Given the description of an element on the screen output the (x, y) to click on. 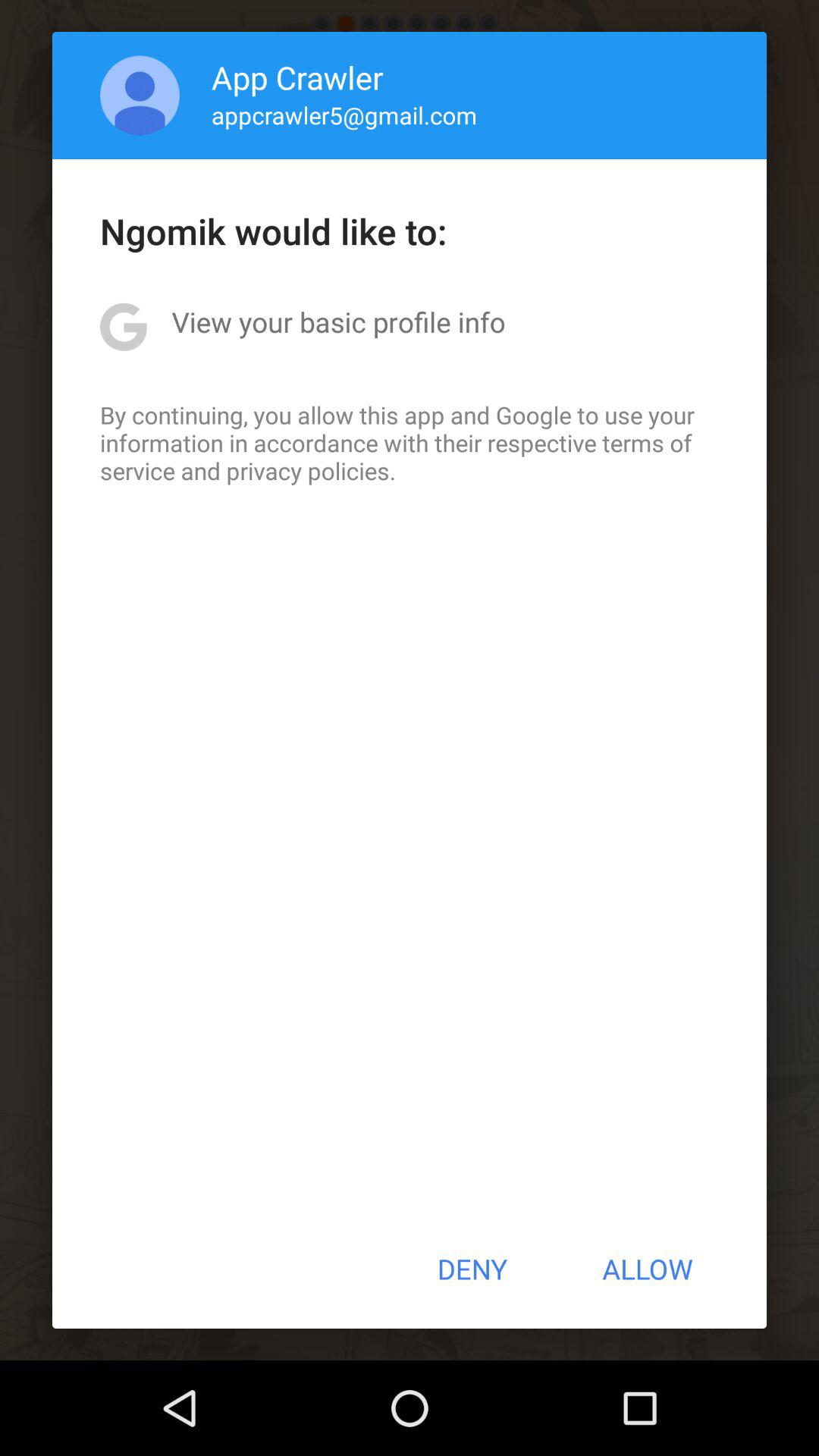
flip to app crawler (297, 76)
